Given the description of an element on the screen output the (x, y) to click on. 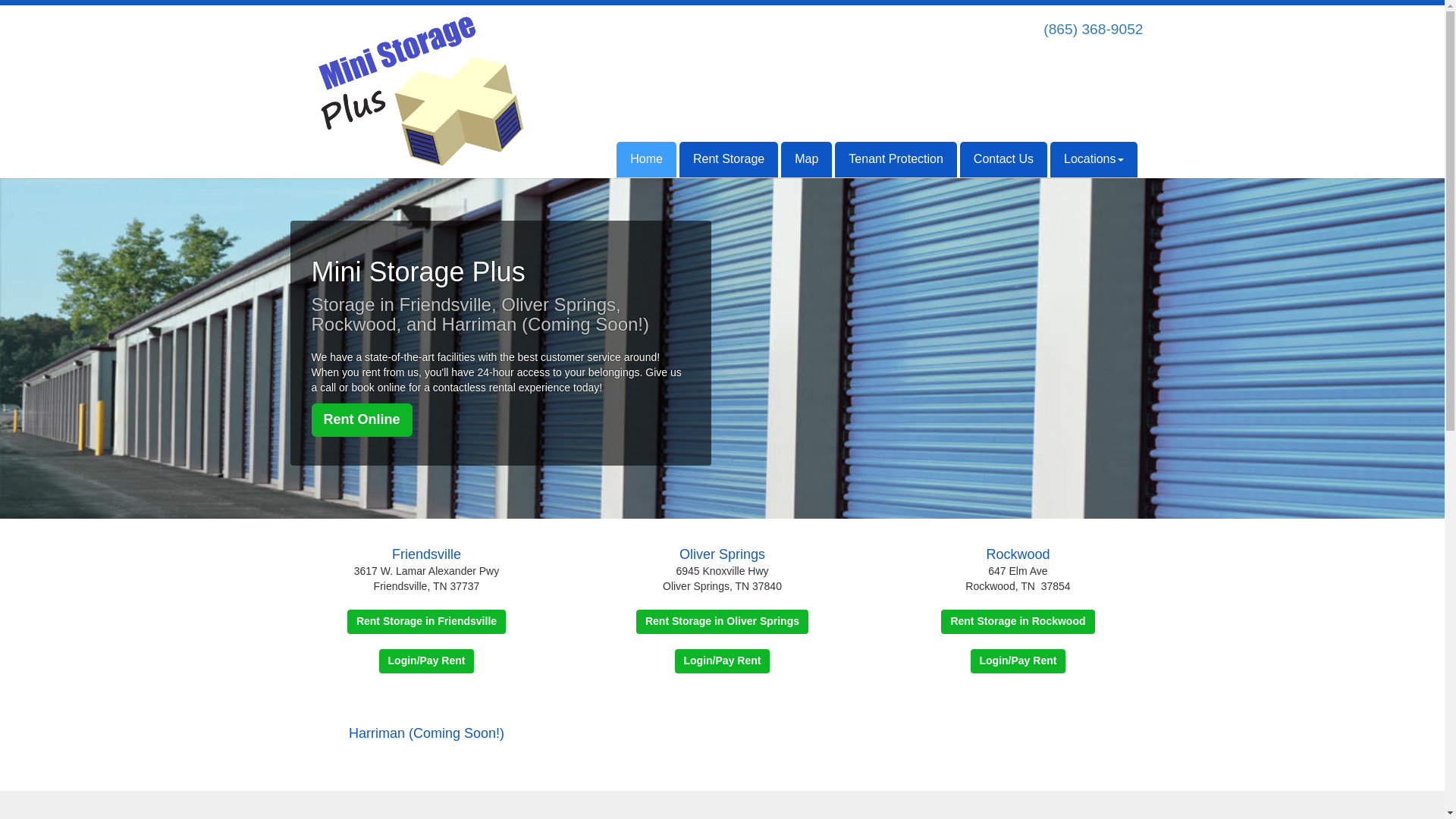
Map (805, 159)
Home (646, 159)
Rent Online (361, 419)
Tenant Protection (895, 159)
Contact Us (1002, 159)
Locations (1093, 159)
Rent Storage (728, 159)
Rent Storage in Friendsville (426, 621)
